Given the description of an element on the screen output the (x, y) to click on. 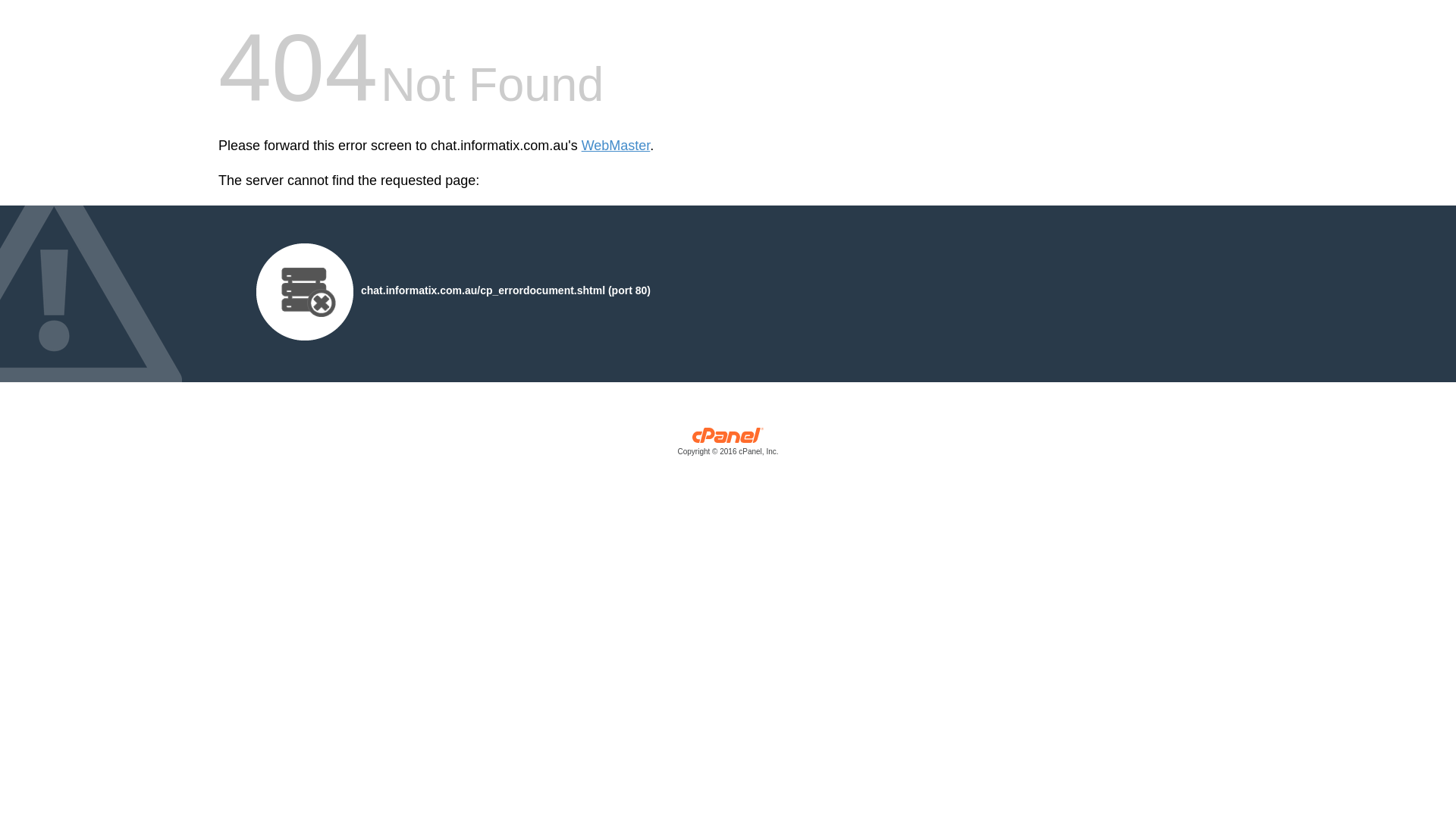
WebMaster Element type: text (615, 145)
